Given the description of an element on the screen output the (x, y) to click on. 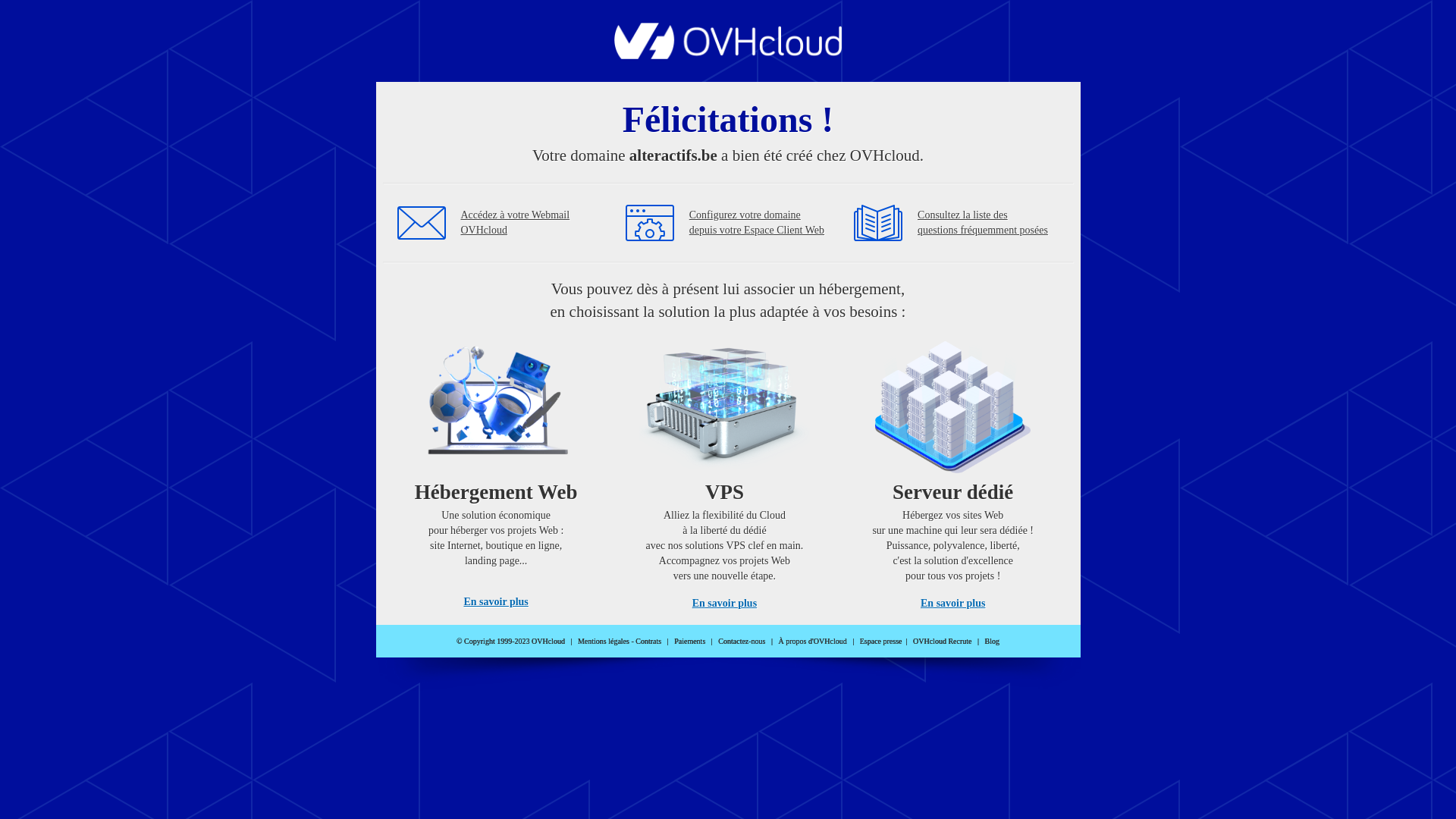
OVHcloud Element type: hover (727, 54)
En savoir plus Element type: text (952, 602)
En savoir plus Element type: text (495, 601)
Espace presse Element type: text (880, 641)
OVHcloud Recrute Element type: text (942, 641)
Configurez votre domaine
depuis votre Espace Client Web Element type: text (756, 222)
Blog Element type: text (992, 641)
VPS Element type: hover (724, 469)
Contactez-nous Element type: text (741, 641)
Paiements Element type: text (689, 641)
En savoir plus Element type: text (724, 602)
